Given the description of an element on the screen output the (x, y) to click on. 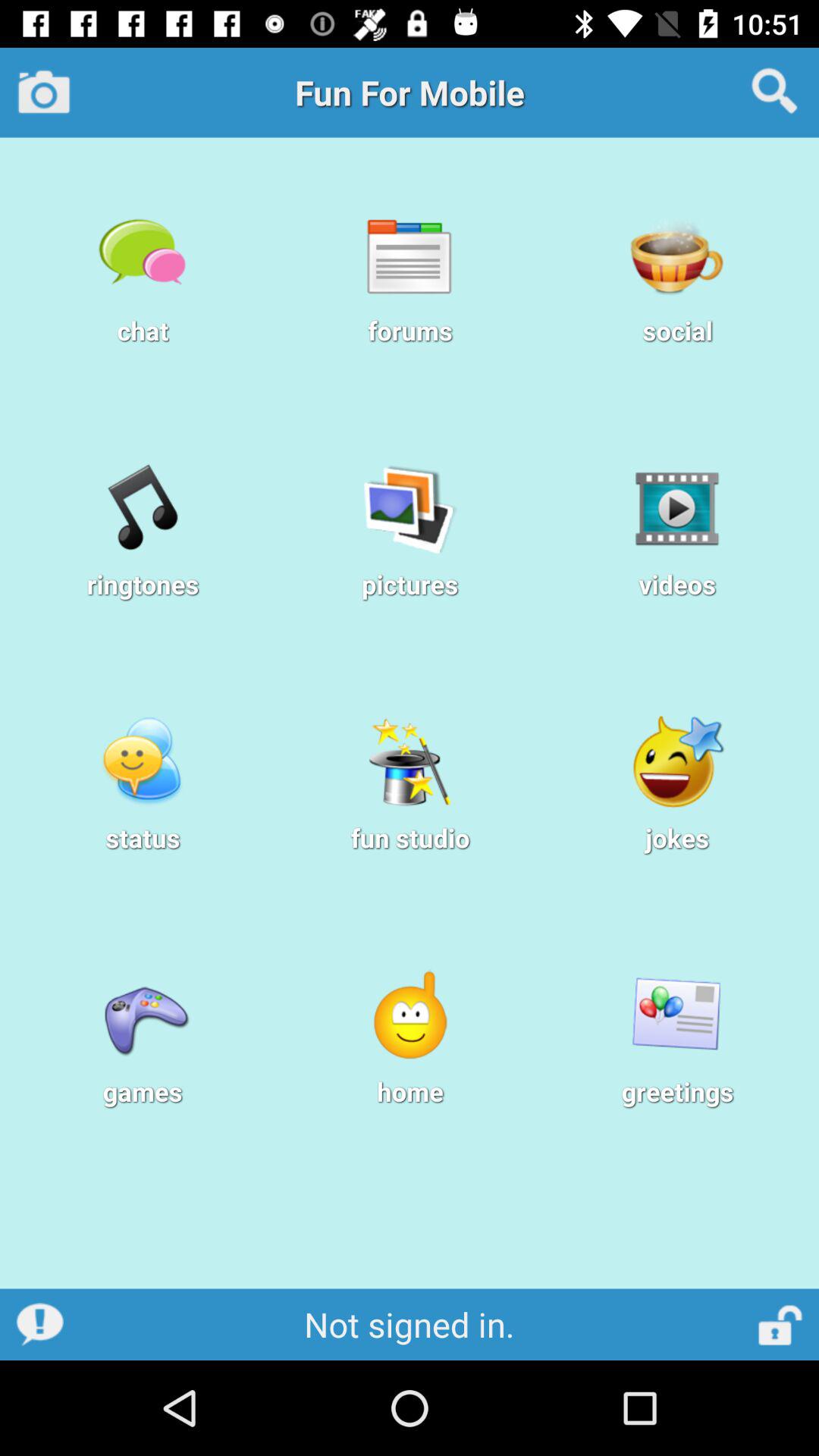
add a picture (43, 91)
